Given the description of an element on the screen output the (x, y) to click on. 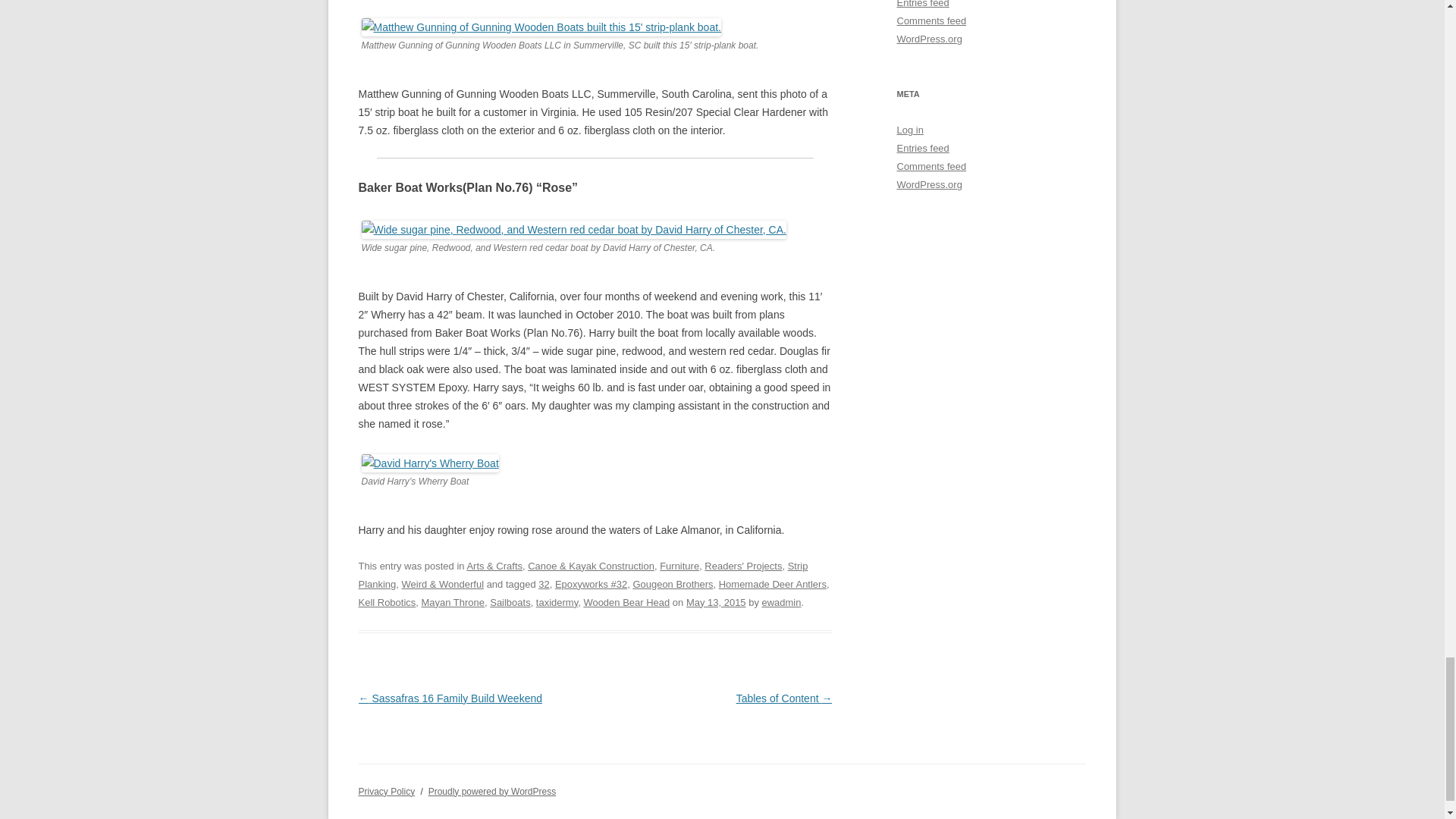
Readers' Projects (742, 565)
Gougeon Brothers (672, 583)
Homemade Deer Antlers (773, 583)
Sailboats (509, 602)
Strip Planking (583, 574)
32 (543, 583)
Kell Robotics (386, 602)
Semantic Personal Publishing Platform (492, 791)
9:42 am (715, 602)
Mayan Throne (453, 602)
